Given the description of an element on the screen output the (x, y) to click on. 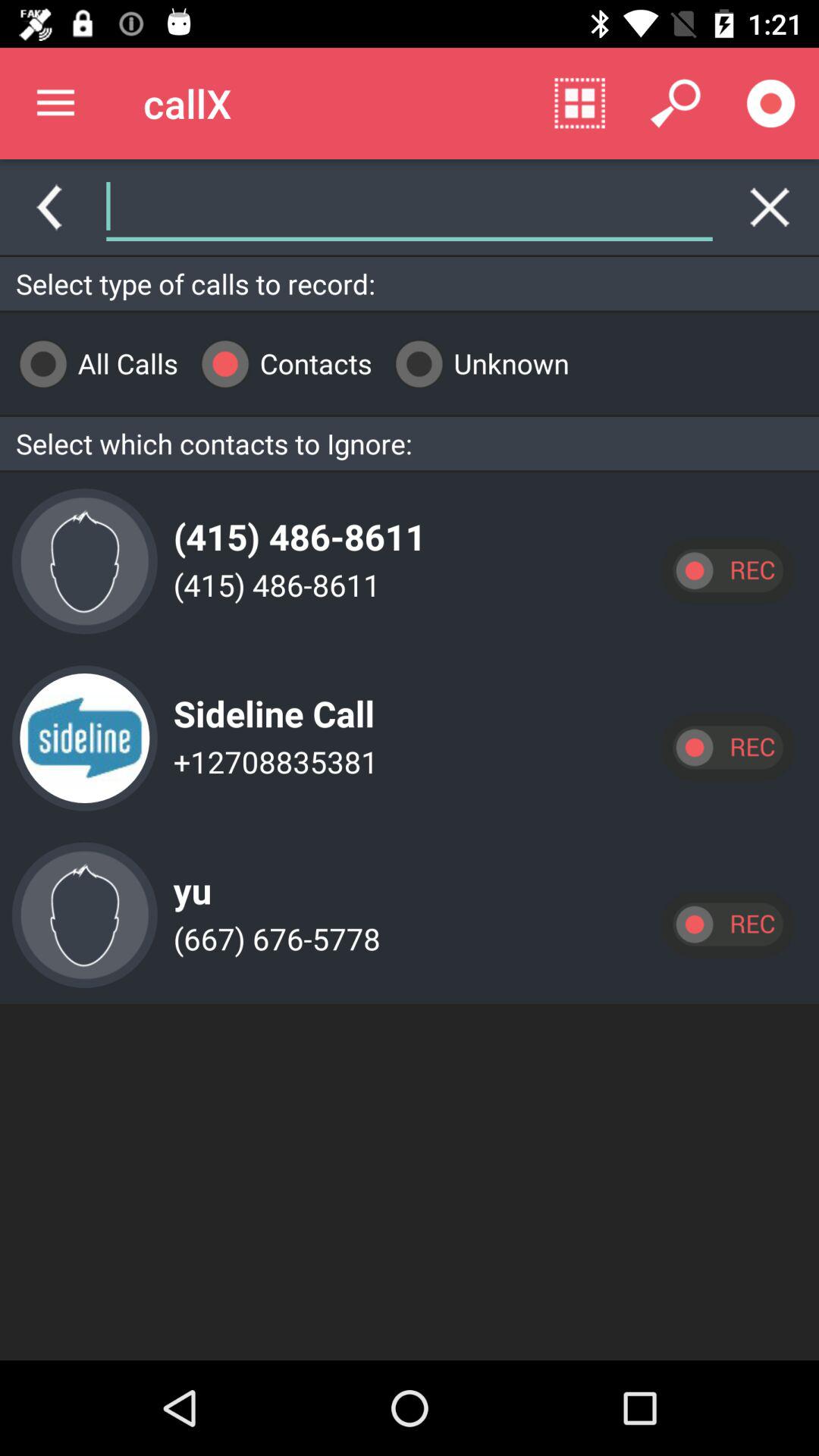
open record (727, 924)
